Given the description of an element on the screen output the (x, y) to click on. 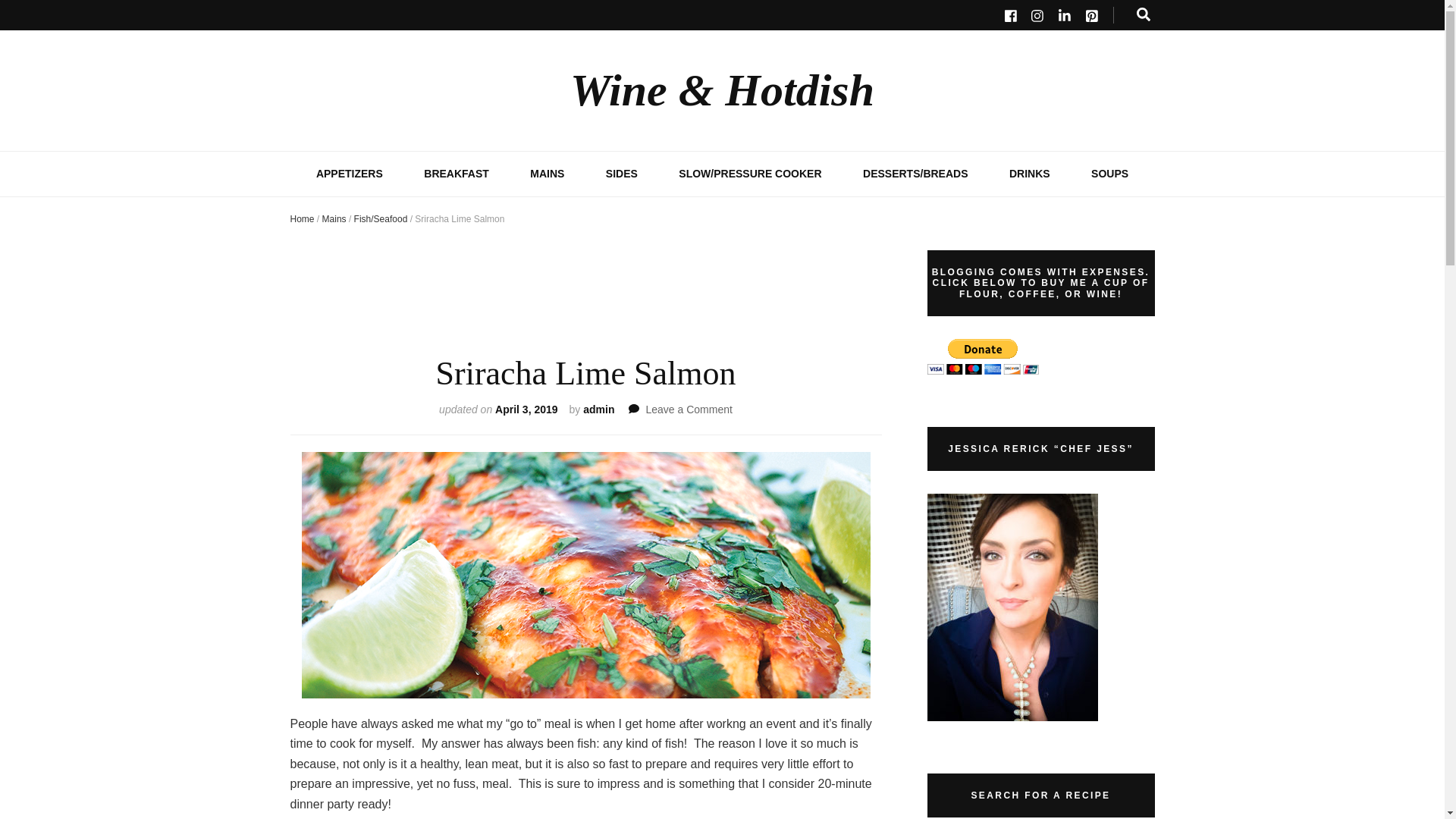
MAINS (546, 173)
SIDES (621, 173)
SOUPS (1109, 173)
April 3, 2019 (526, 409)
Home (689, 409)
APPETIZERS (301, 218)
Mains (348, 173)
DRINKS (333, 218)
BREAKFAST (1029, 173)
PayPal - The safer, easier way to pay online! (456, 173)
admin (982, 356)
